Given the description of an element on the screen output the (x, y) to click on. 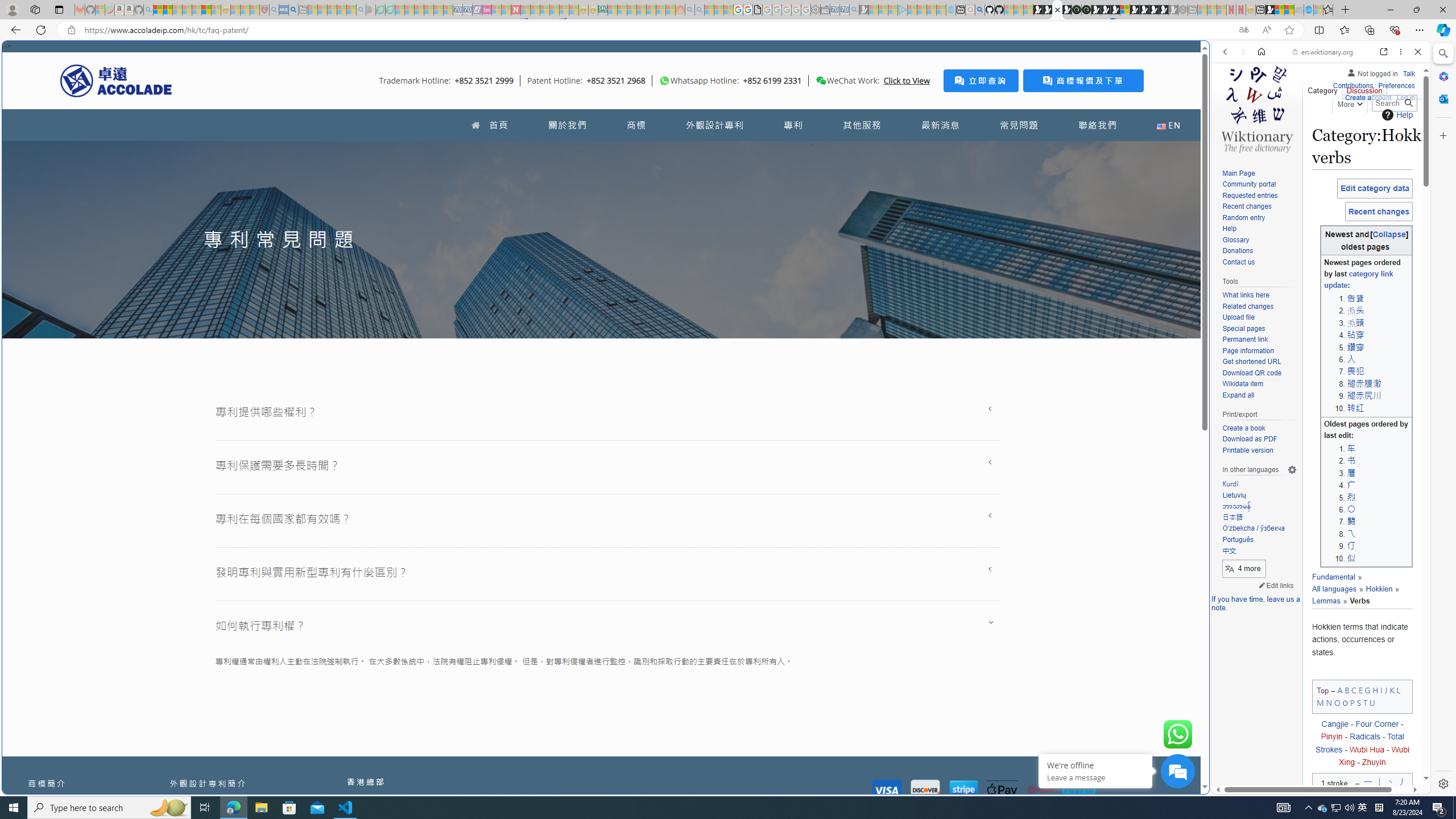
B (1346, 689)
Upload file (1259, 317)
